Given the description of an element on the screen output the (x, y) to click on. 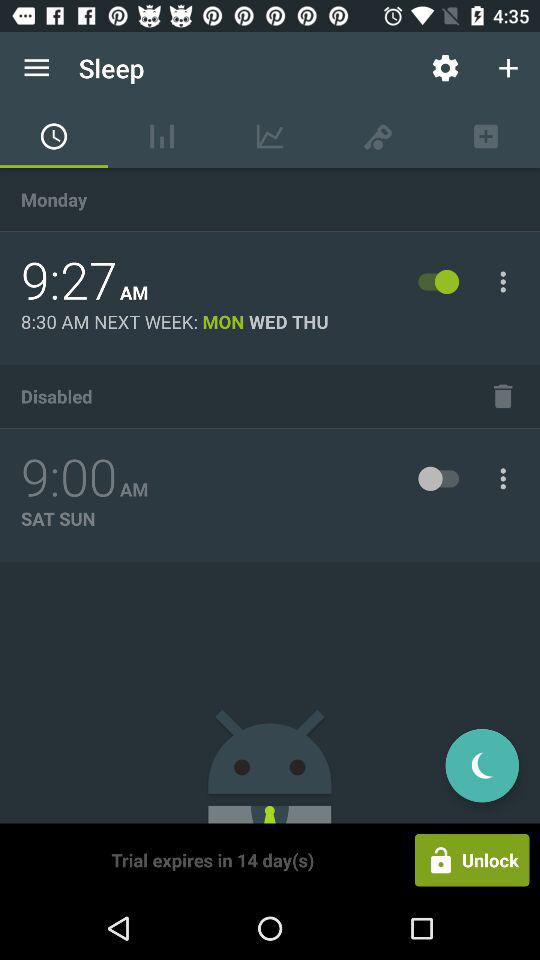
turn off the icon to the right of disabled (503, 396)
